Given the description of an element on the screen output the (x, y) to click on. 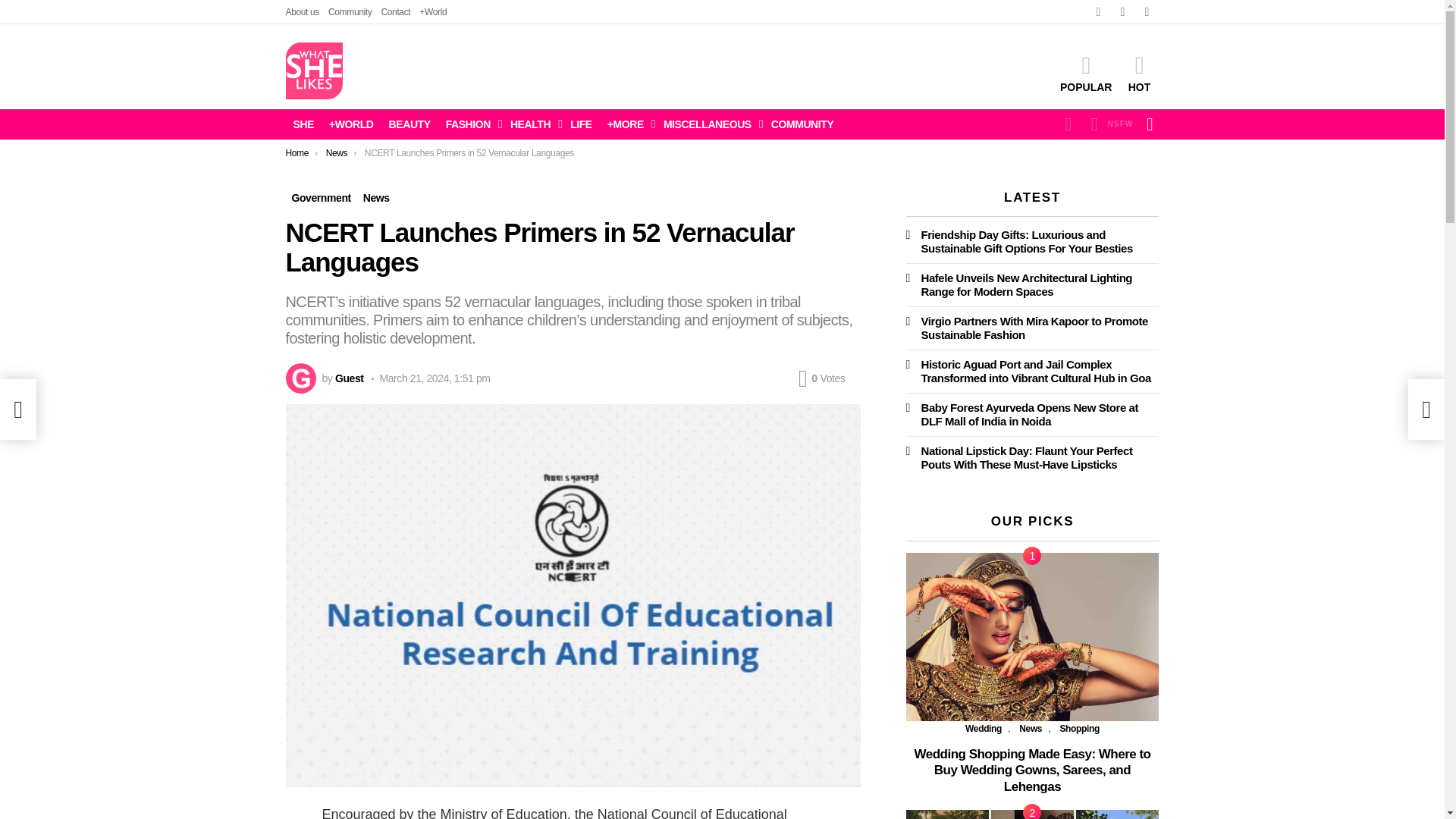
HEALTH (532, 124)
Contact (395, 12)
About us (301, 12)
Community (350, 12)
Posts by Guest (349, 377)
Facebook (1097, 11)
HOT (1138, 73)
Toggle NSFW (1108, 123)
Twitter (1121, 11)
LIFE (580, 124)
